Given the description of an element on the screen output the (x, y) to click on. 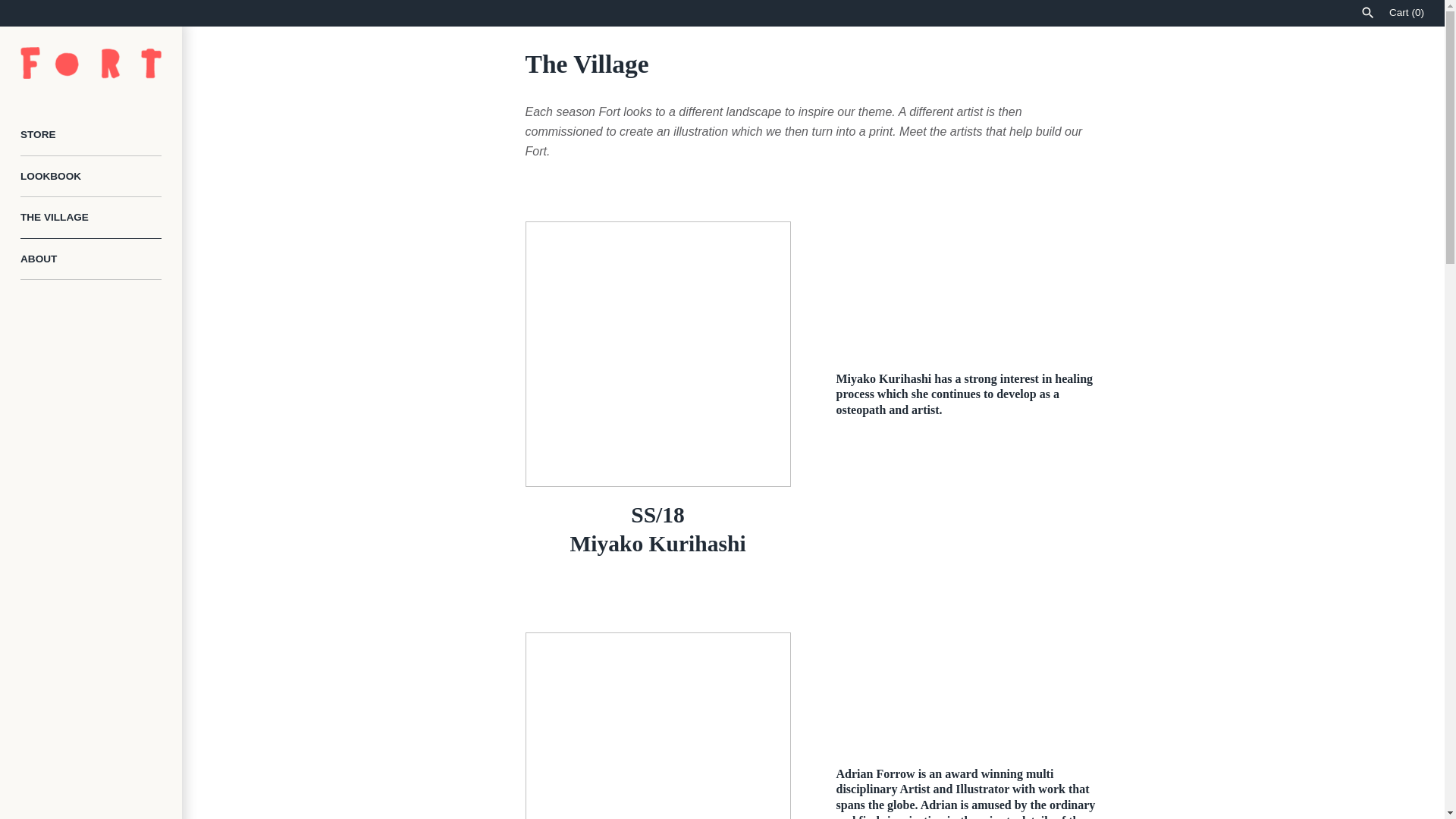
ABOUT (90, 259)
LOOKBOOK (90, 177)
fort (91, 62)
THE VILLAGE (90, 218)
STORE (90, 135)
